Given the description of an element on the screen output the (x, y) to click on. 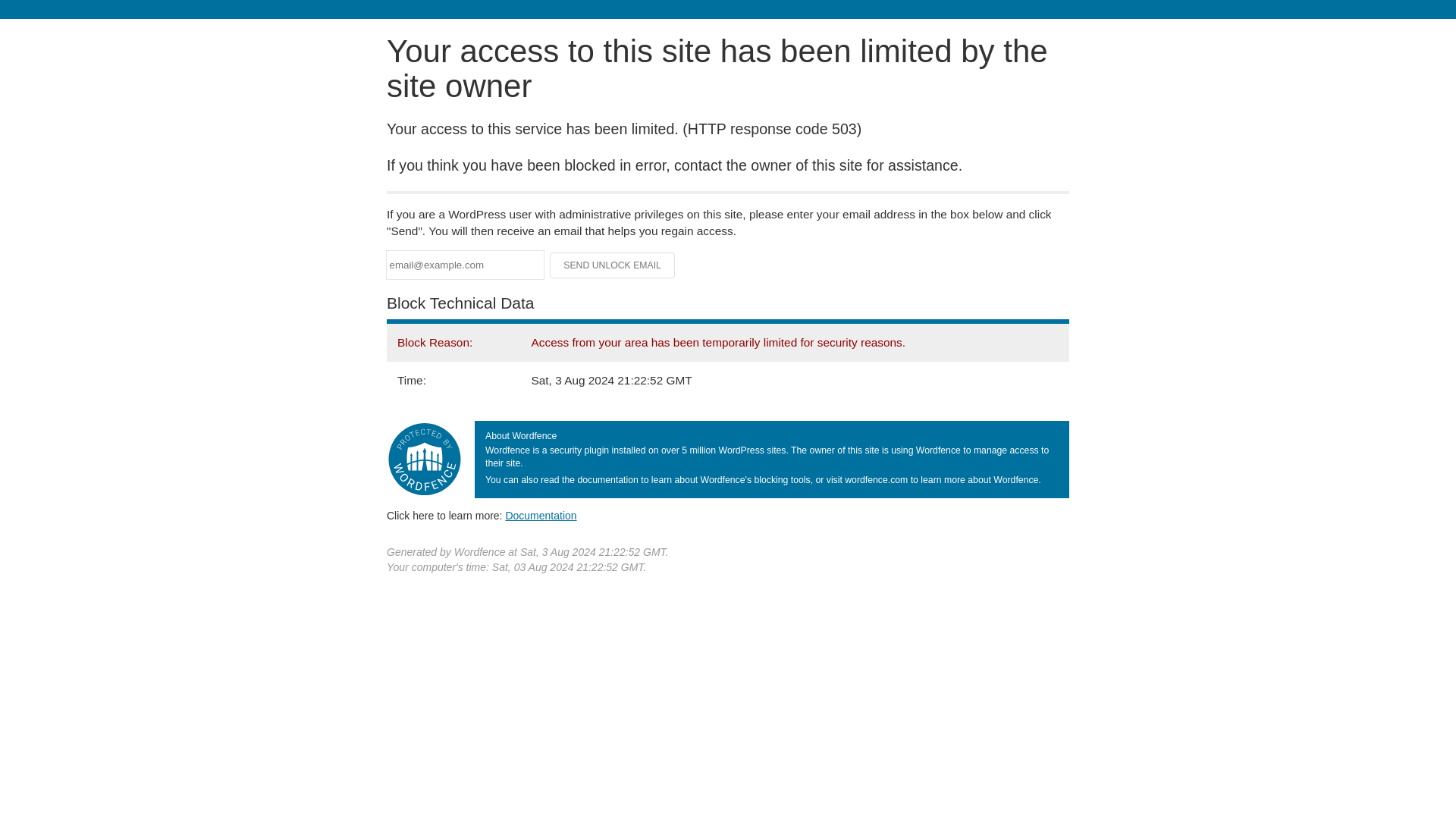
Send Unlock Email (612, 265)
Send Unlock Email (612, 265)
Documentation (540, 515)
